Given the description of an element on the screen output the (x, y) to click on. 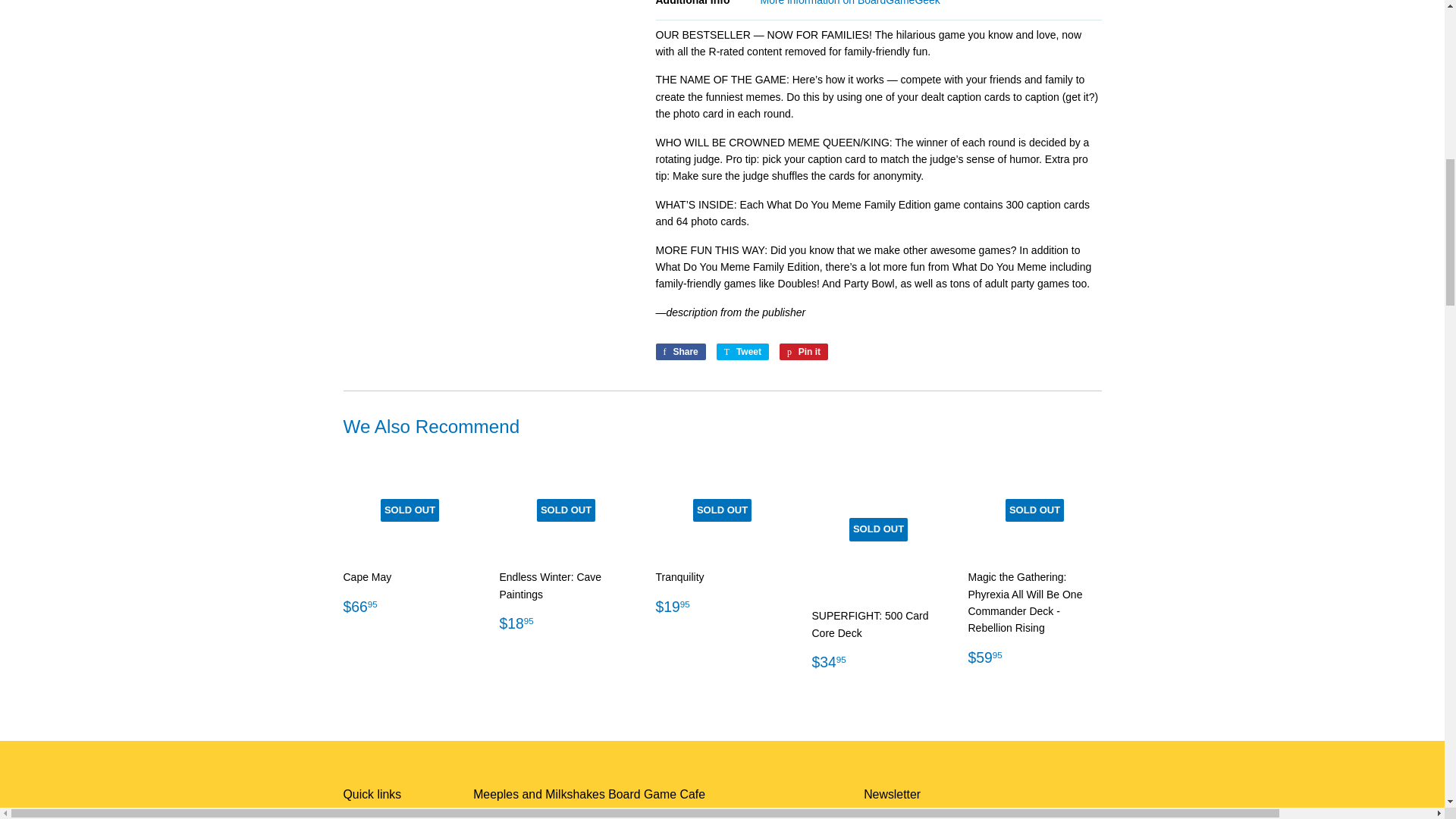
Pin on Pinterest (803, 351)
Share on Facebook (679, 351)
Tweet on Twitter (742, 351)
